Given the description of an element on the screen output the (x, y) to click on. 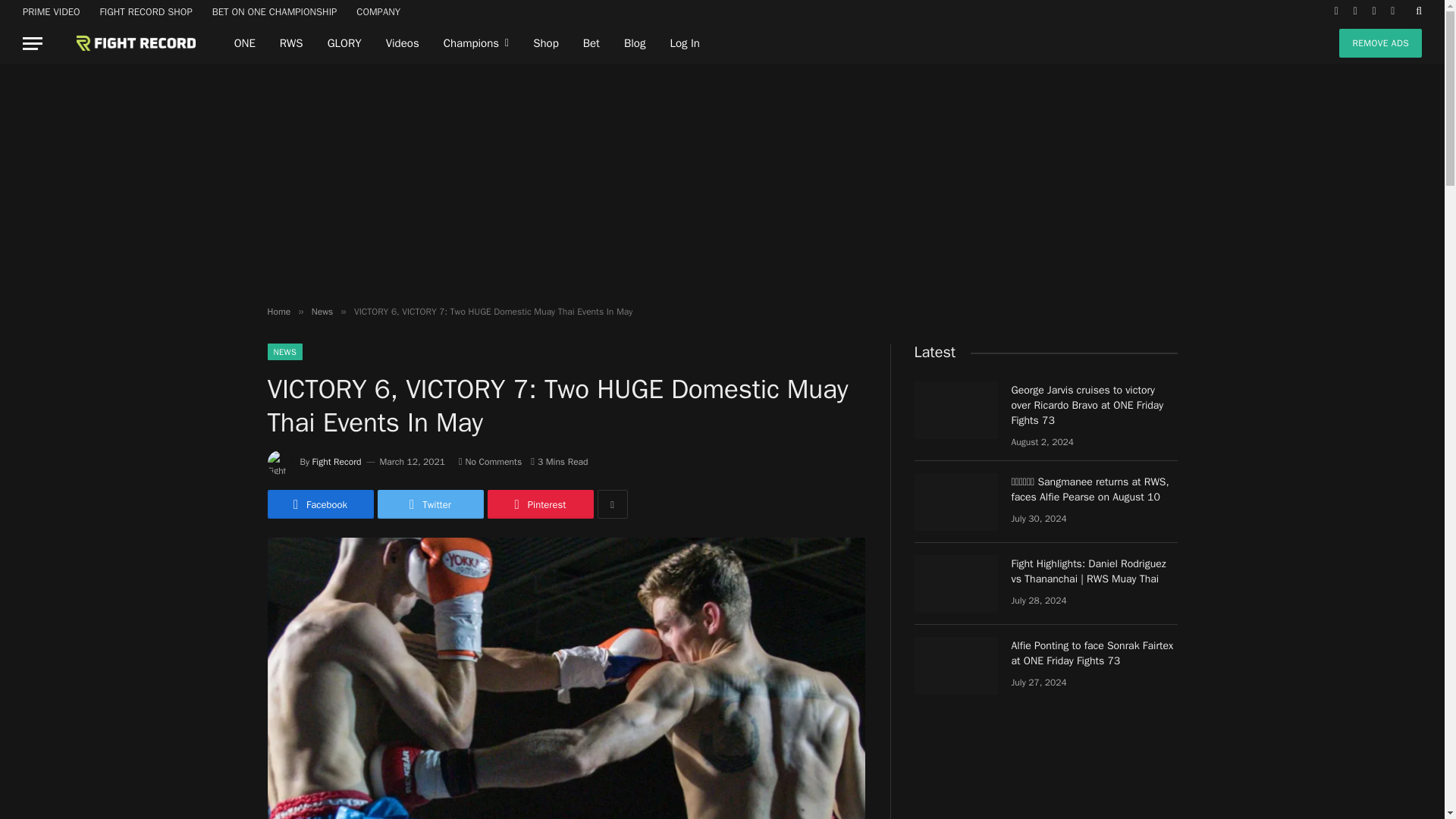
Home (277, 311)
Log In (684, 42)
Blog (634, 42)
REMOVE ADS (1380, 42)
Bet (590, 42)
News (322, 311)
Twitter (430, 503)
Fight Record (337, 461)
NEWS (284, 351)
Pinterest (539, 503)
